Given the description of an element on the screen output the (x, y) to click on. 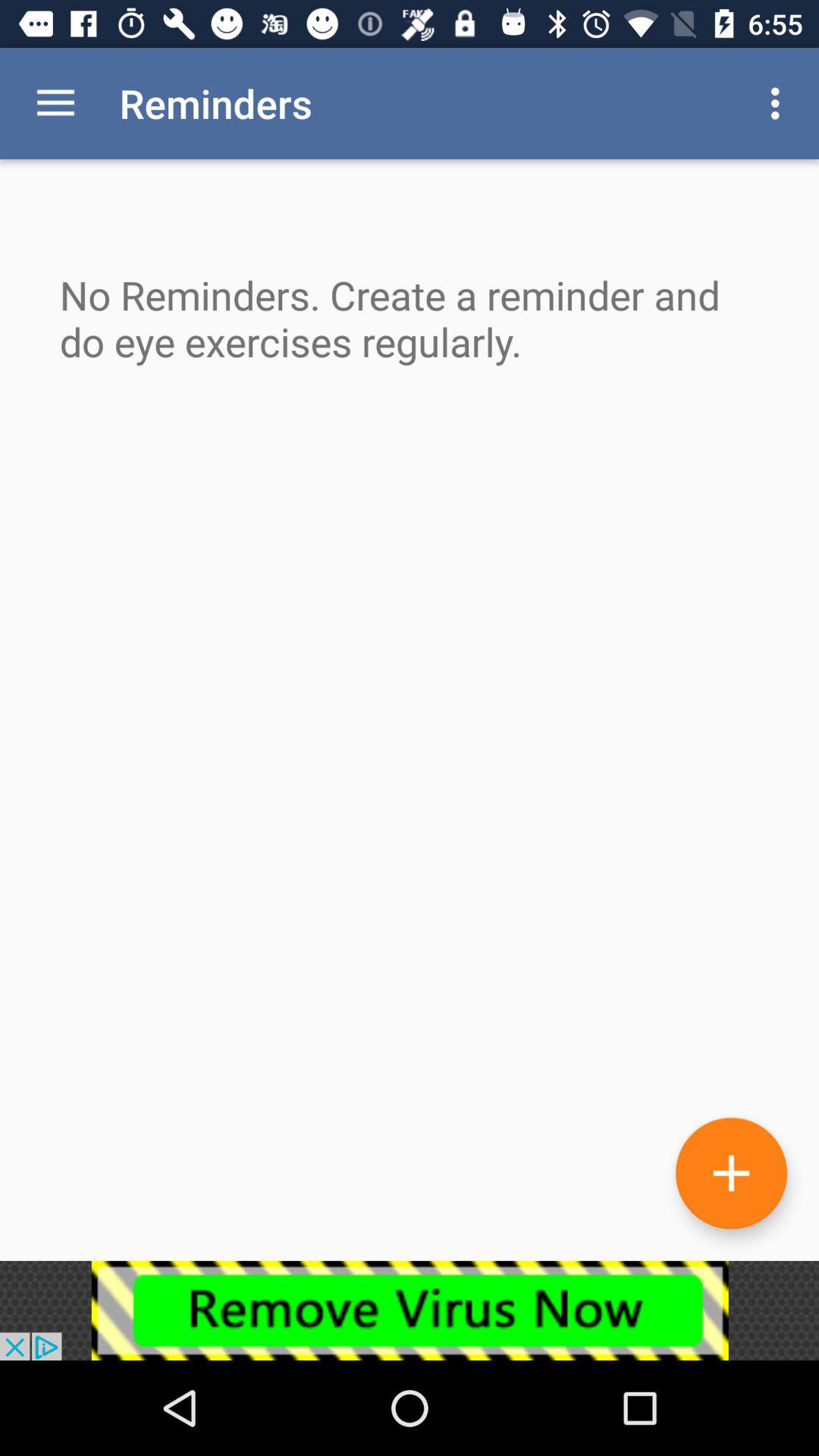
add button (731, 1173)
